Given the description of an element on the screen output the (x, y) to click on. 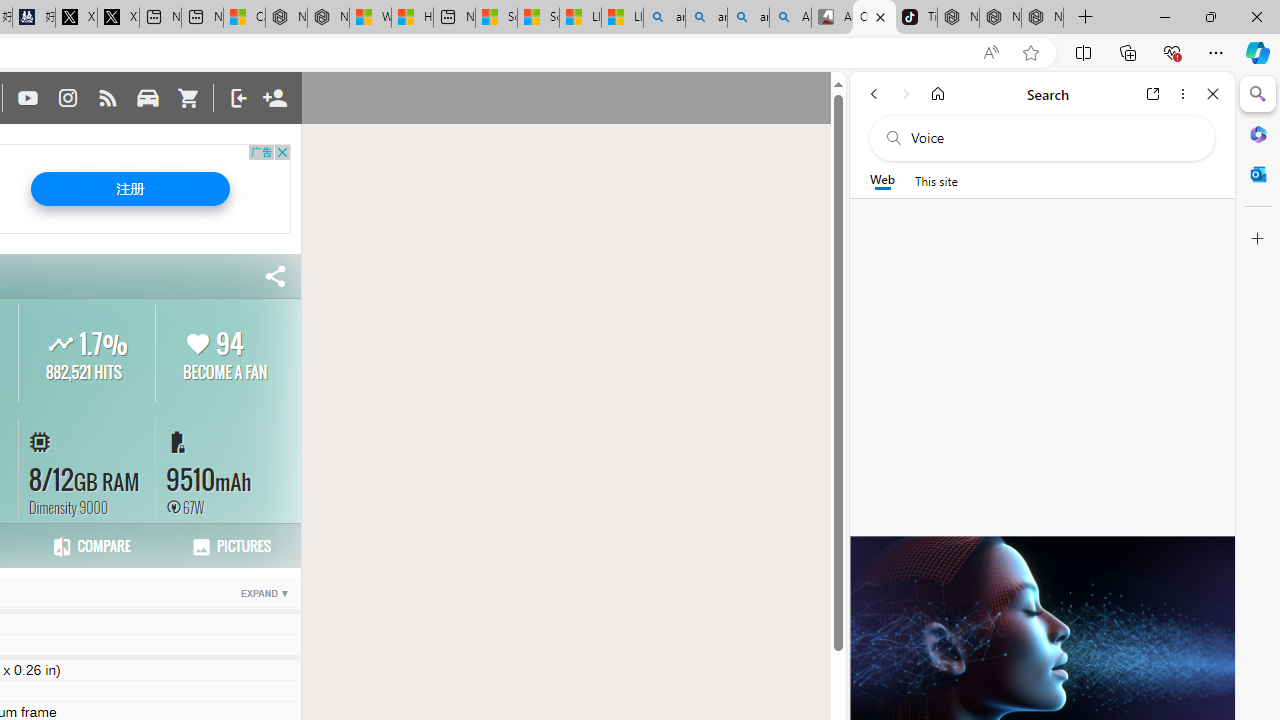
Microsoft 365 (1258, 133)
Amazon Echo Robot - Search Images (790, 17)
amazon - Search (706, 17)
Web scope (882, 180)
Customize (1258, 239)
Home (938, 93)
Huge shark washes ashore at New York City beach | Watch (411, 17)
